Given the description of an element on the screen output the (x, y) to click on. 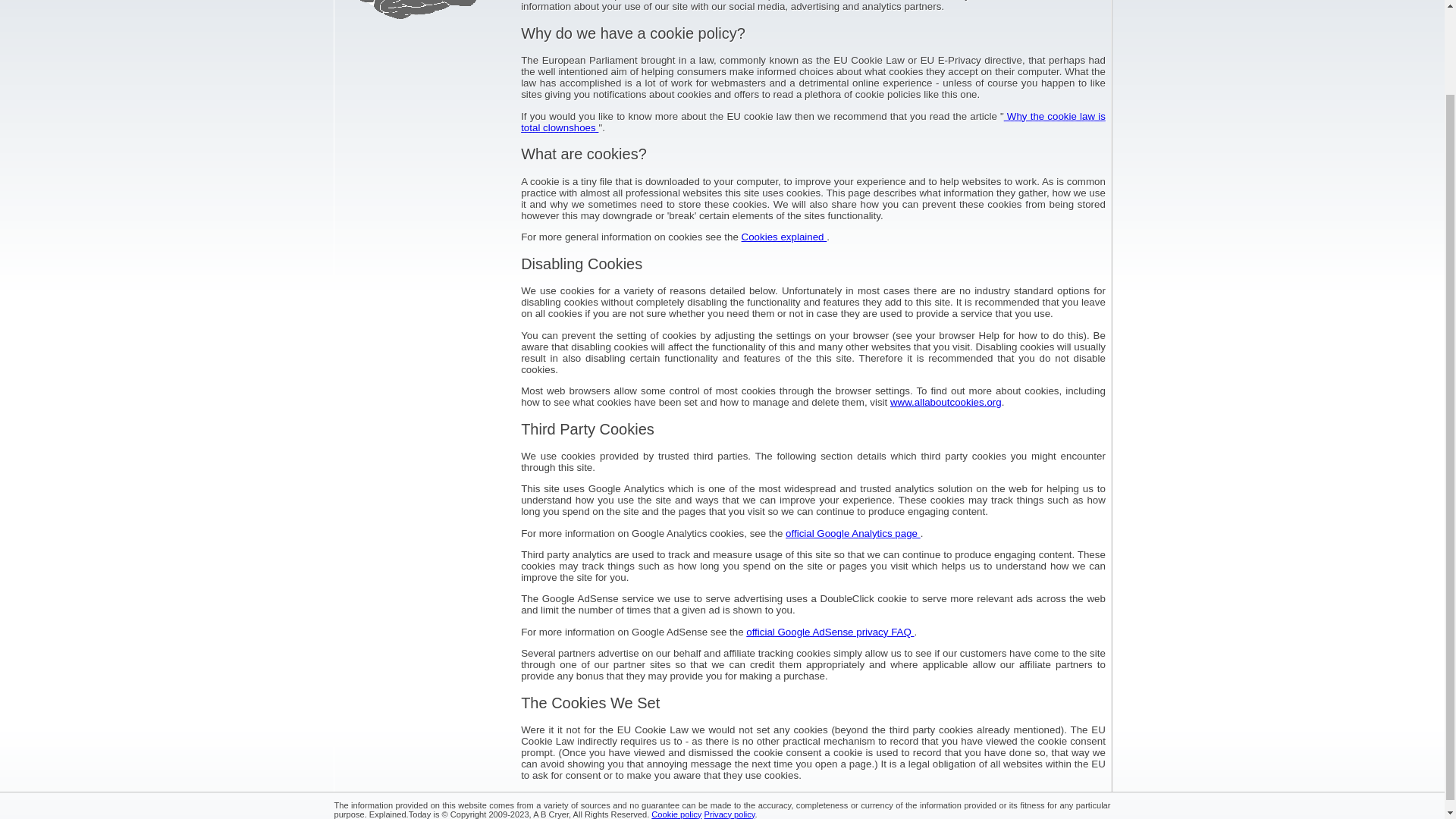
Cookies explained (784, 236)
Why the cookie law is total clownshoes (813, 121)
official Google AdSense privacy FAQ (829, 632)
official Google Analytics page (853, 532)
www.allaboutcookies.org (945, 401)
